Given the description of an element on the screen output the (x, y) to click on. 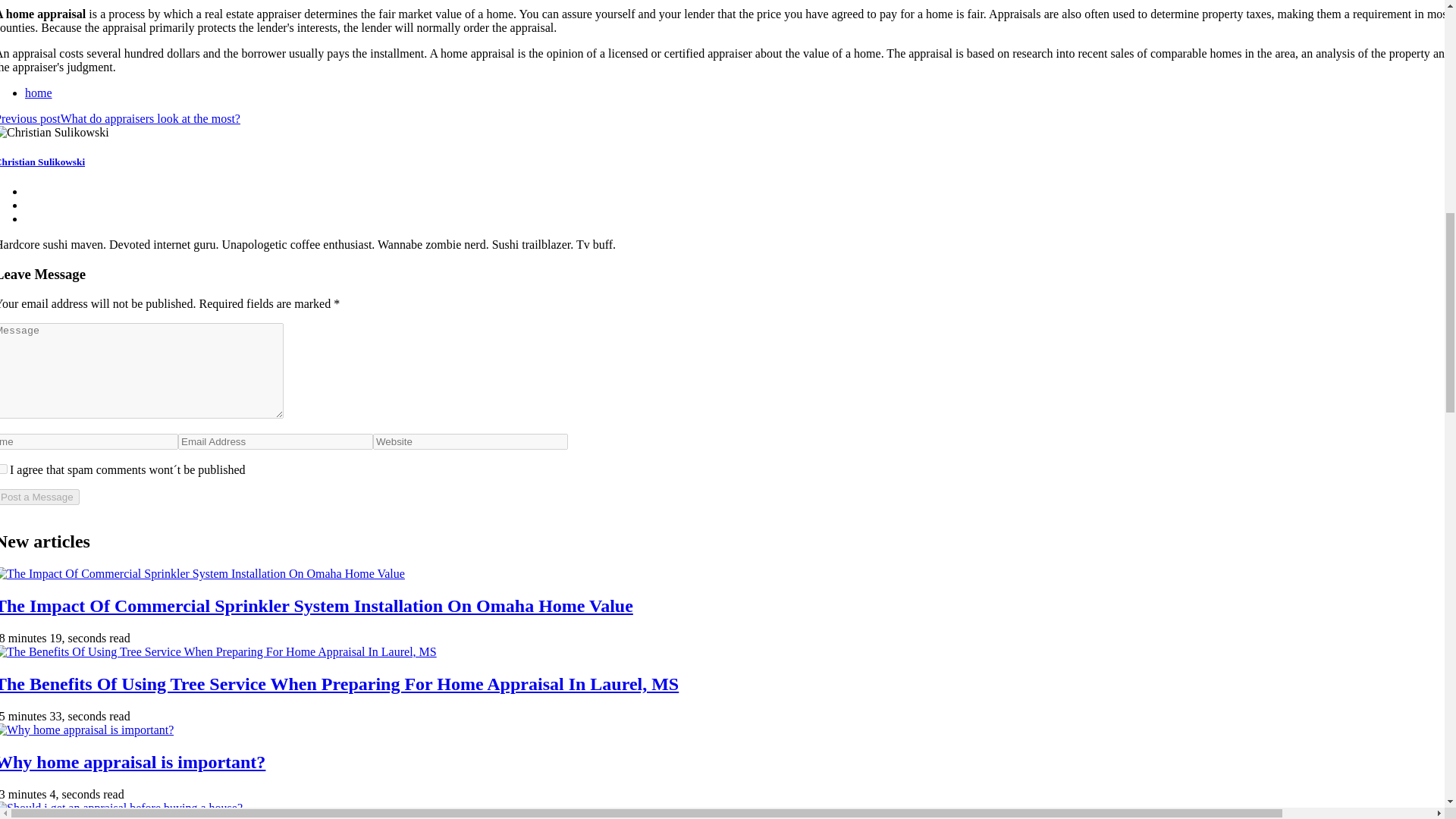
Previous postWhat do appraisers look at the most? (120, 118)
Post a Message (40, 496)
Christian Sulikowski (42, 161)
home (38, 92)
Post a Message (40, 496)
Why home appraisal is important? (132, 762)
